Given the description of an element on the screen output the (x, y) to click on. 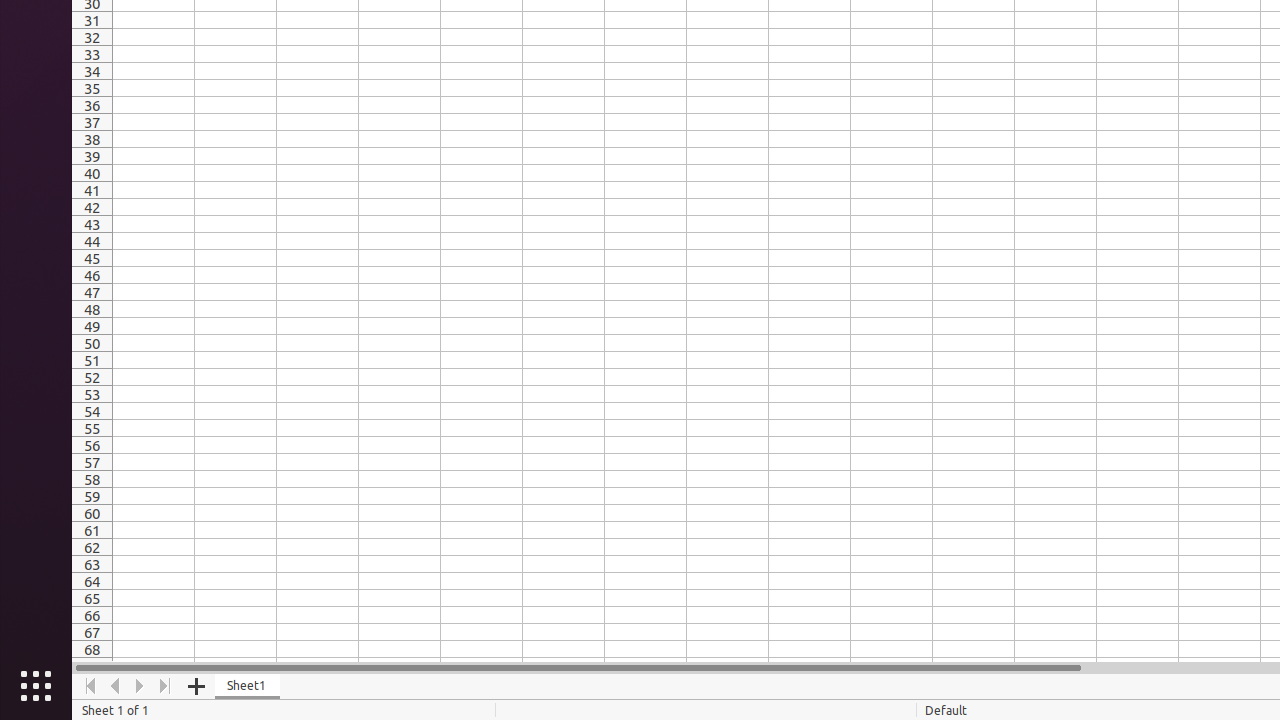
Move Left Element type: push-button (115, 686)
Move Right Element type: push-button (140, 686)
Move To End Element type: push-button (165, 686)
Sheet1 Element type: page-tab (247, 686)
Show Applications Element type: toggle-button (36, 686)
